Given the description of an element on the screen output the (x, y) to click on. 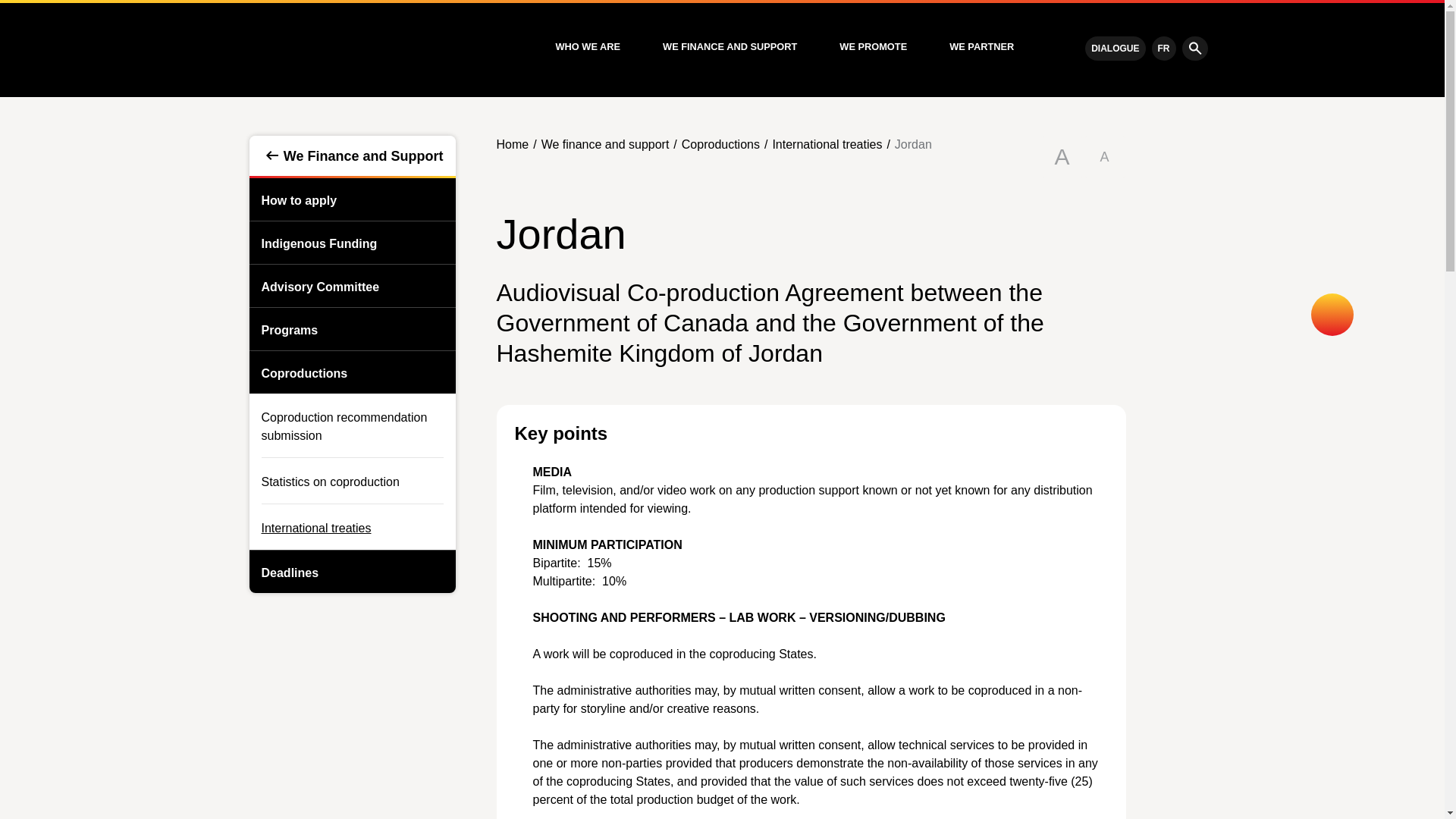
WHO WE ARE (587, 47)
We Finance and Support (351, 155)
Programs (282, 328)
How to apply (292, 199)
Advisory Committee (313, 285)
WE FINANCE AND SUPPORT (729, 47)
Indigenous Funding (312, 242)
